Given the description of an element on the screen output the (x, y) to click on. 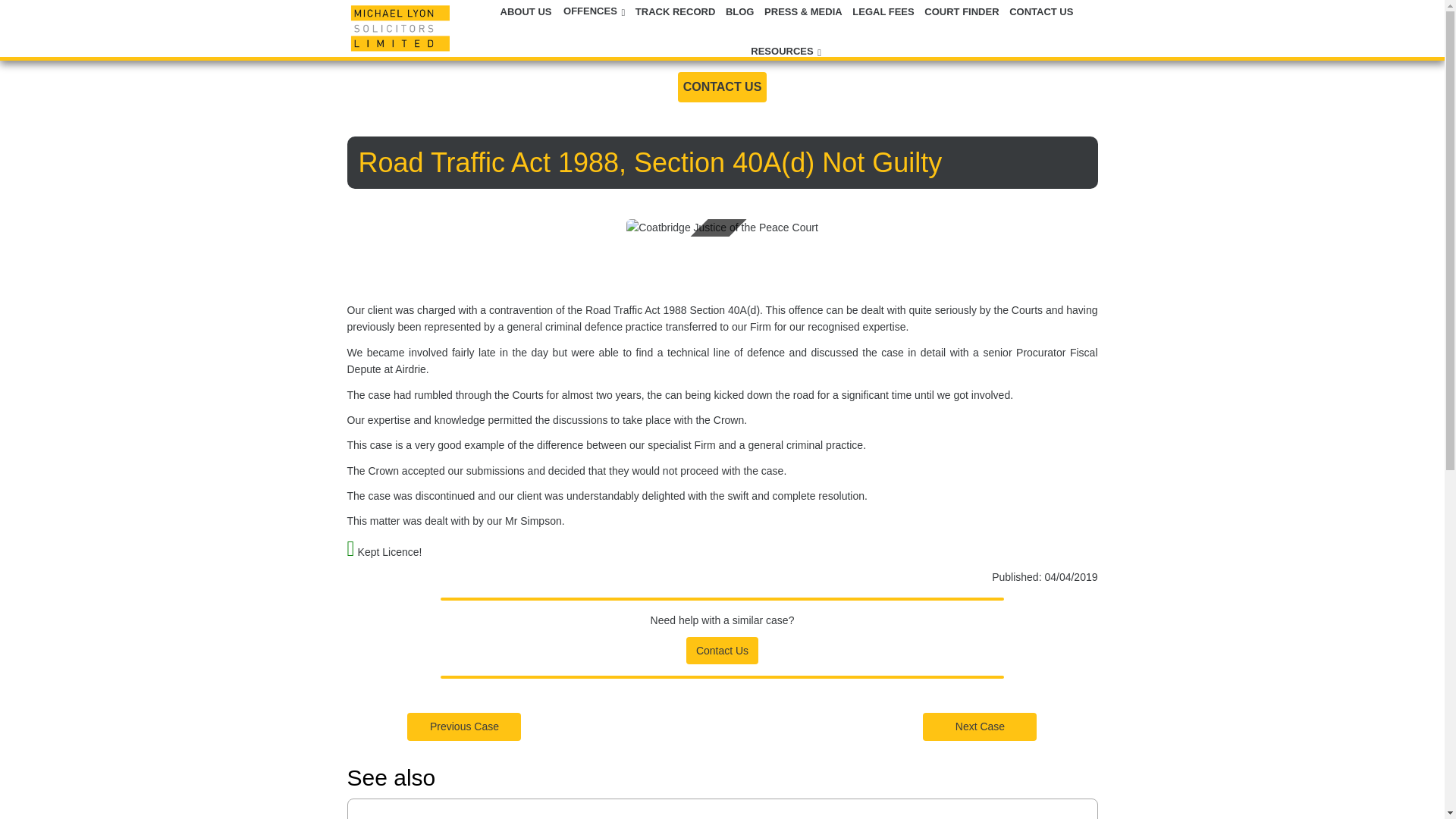
Previous Case (464, 726)
The Long Arm Of The Law (465, 817)
Next Case (979, 725)
Contact Us (721, 649)
LEGAL FEES (884, 10)
ABOUT US (527, 10)
COURT FINDER (963, 10)
TRACK RECORD (676, 10)
CONTACT US (722, 86)
BLOG (741, 10)
CONTACT US (1041, 10)
RESOURCES (785, 51)
Previous Case (464, 725)
Next Case (979, 726)
